Given the description of an element on the screen output the (x, y) to click on. 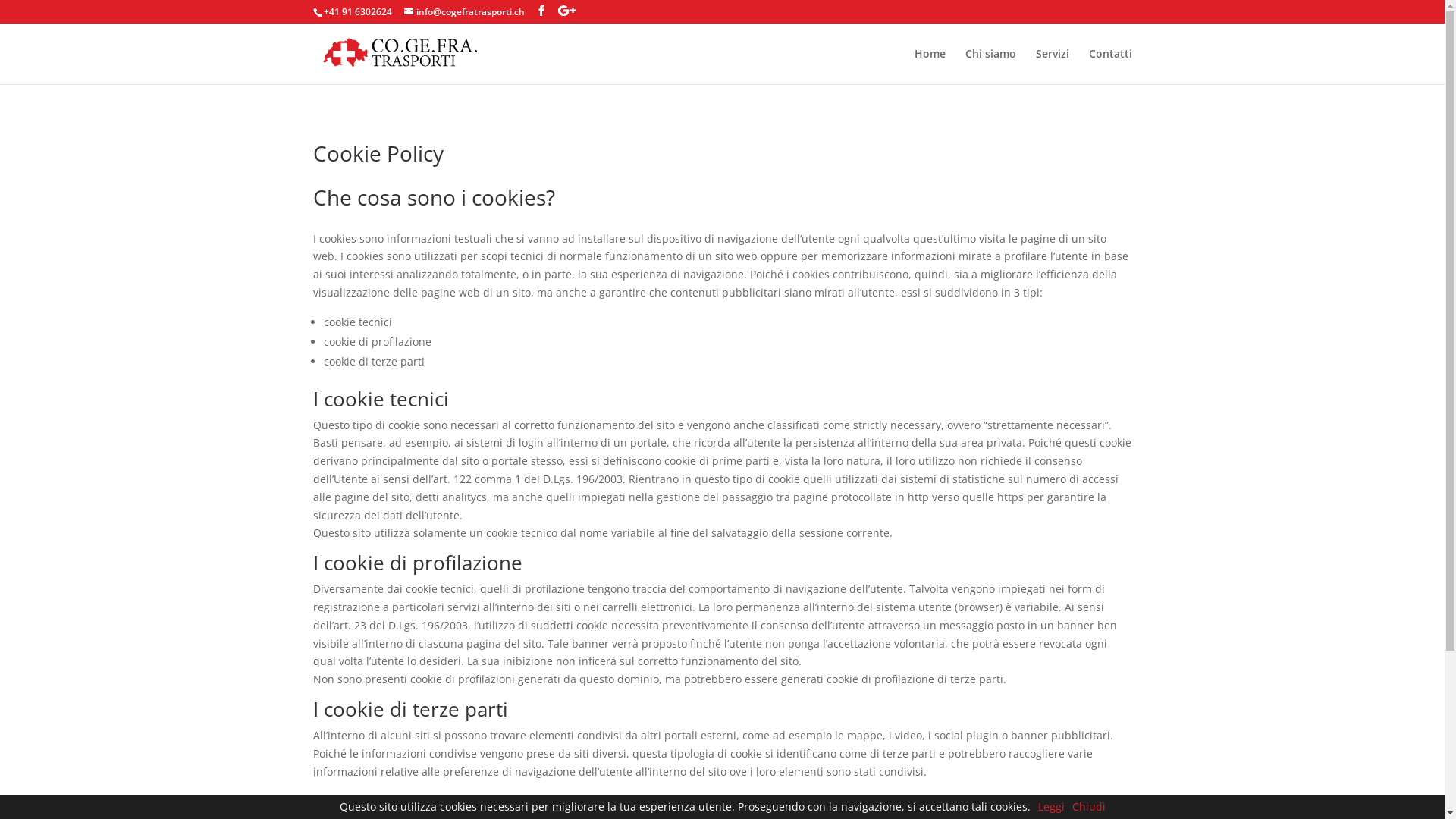
Leggi Element type: text (1050, 806)
Home Element type: text (929, 66)
Servizi Element type: text (1052, 66)
info@cogefratrasporti.ch Element type: text (463, 11)
Contatti Element type: text (1110, 66)
Chi siamo Element type: text (989, 66)
Chiudi Element type: text (1088, 806)
http://www.google.com/policies/technologies/cookies/ Element type: text (459, 800)
+41 91 6302624 Element type: text (357, 11)
